Given the description of an element on the screen output the (x, y) to click on. 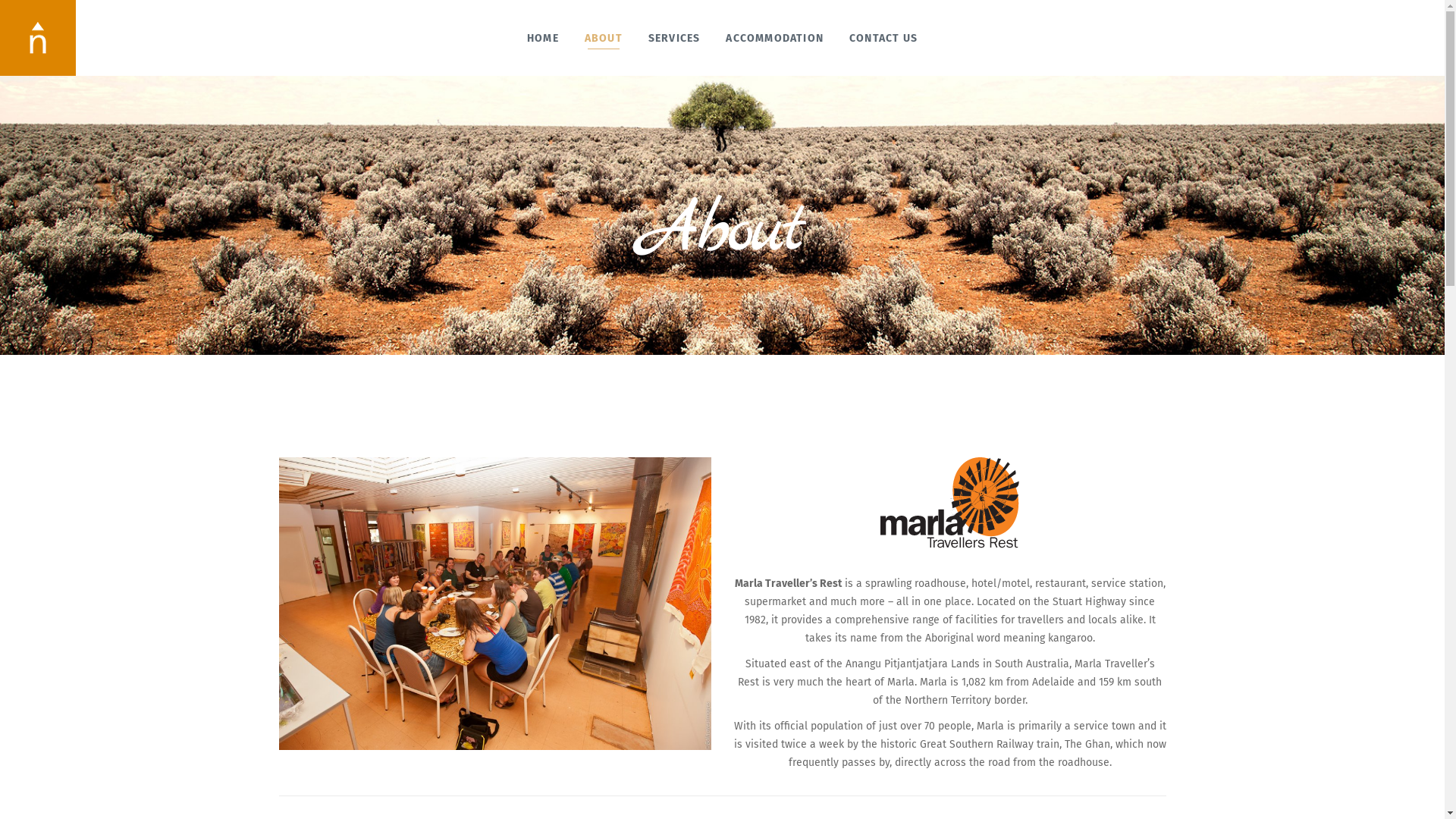
HOME Element type: text (542, 37)
marlas-travellers-rest Element type: hover (949, 502)
SERVICES Element type: text (674, 37)
ABOUT Element type: text (603, 37)
ACCOMMODATION Element type: text (774, 37)
Back to Northern Interests Element type: hover (37, 34)
Northern-Interests-Marlas-Travellers-Rest-1 Element type: hover (495, 603)
CONTACT US Element type: text (882, 37)
